Given the description of an element on the screen output the (x, y) to click on. 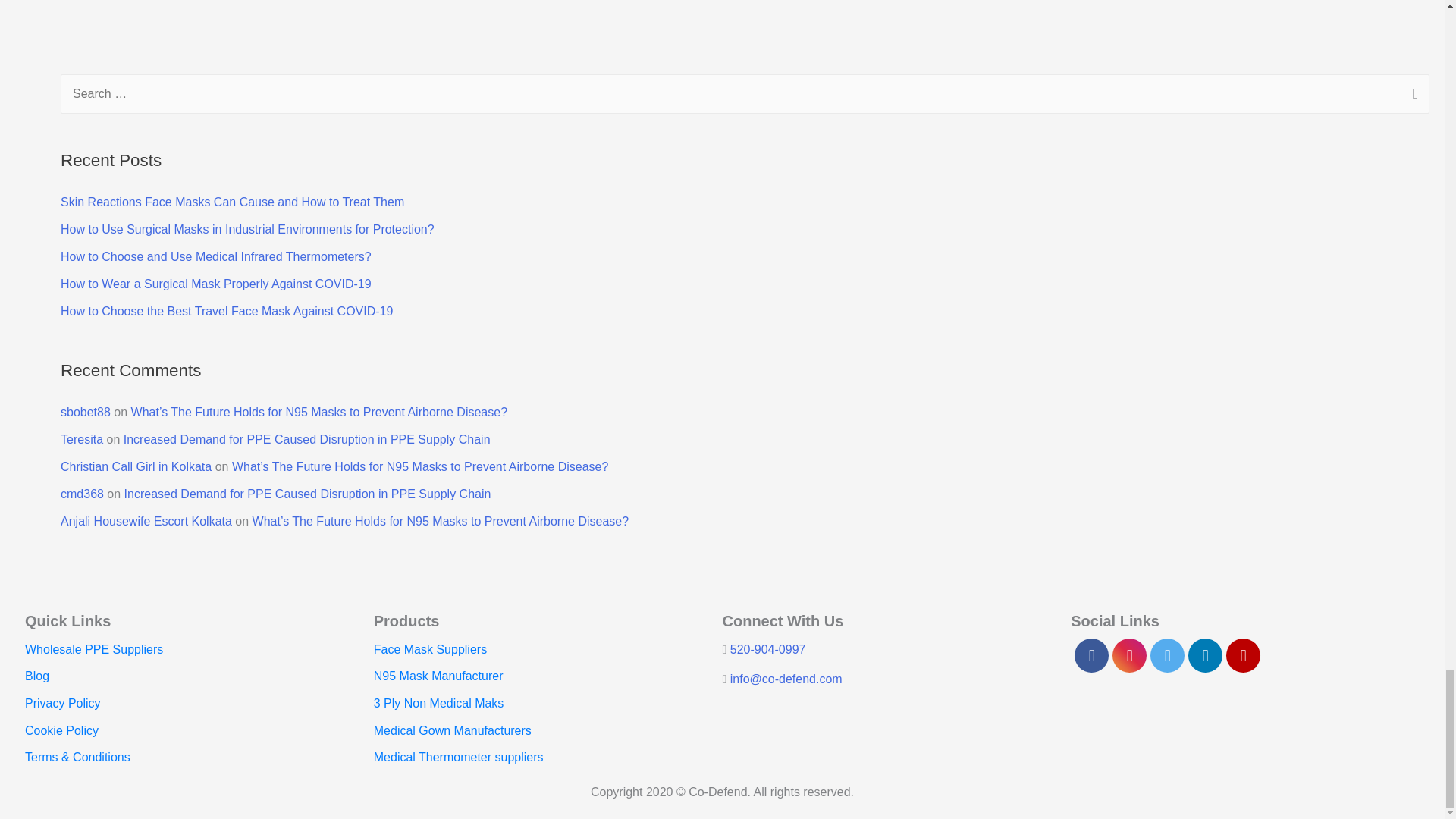
Skin Reactions Face Masks Can Cause and How to Treat Them (232, 201)
